Given the description of an element on the screen output the (x, y) to click on. 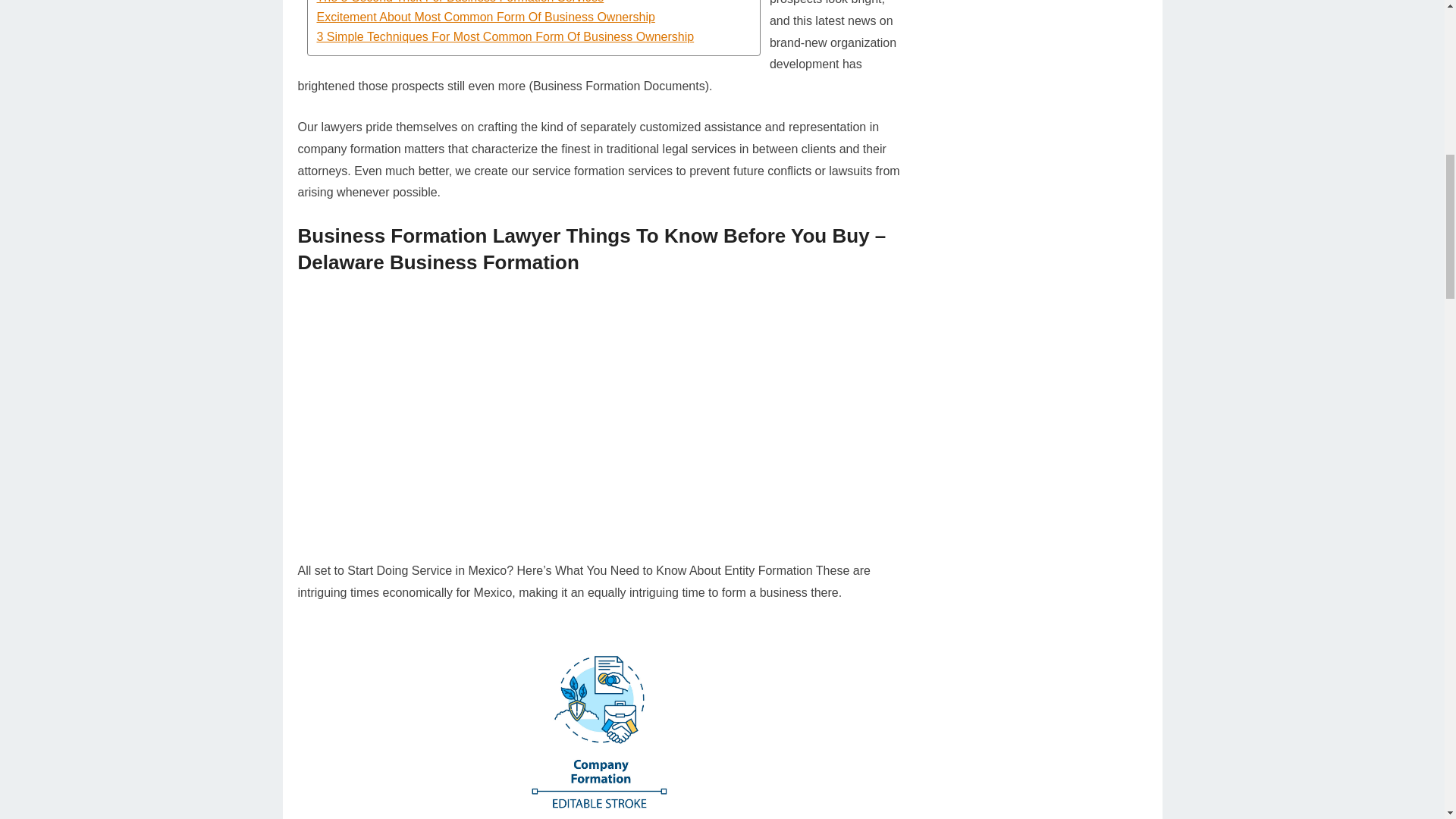
The 8-Second Trick For Business Formation Services (534, 3)
Excitement About Most Common Form Of Business Ownership (534, 17)
